Given the description of an element on the screen output the (x, y) to click on. 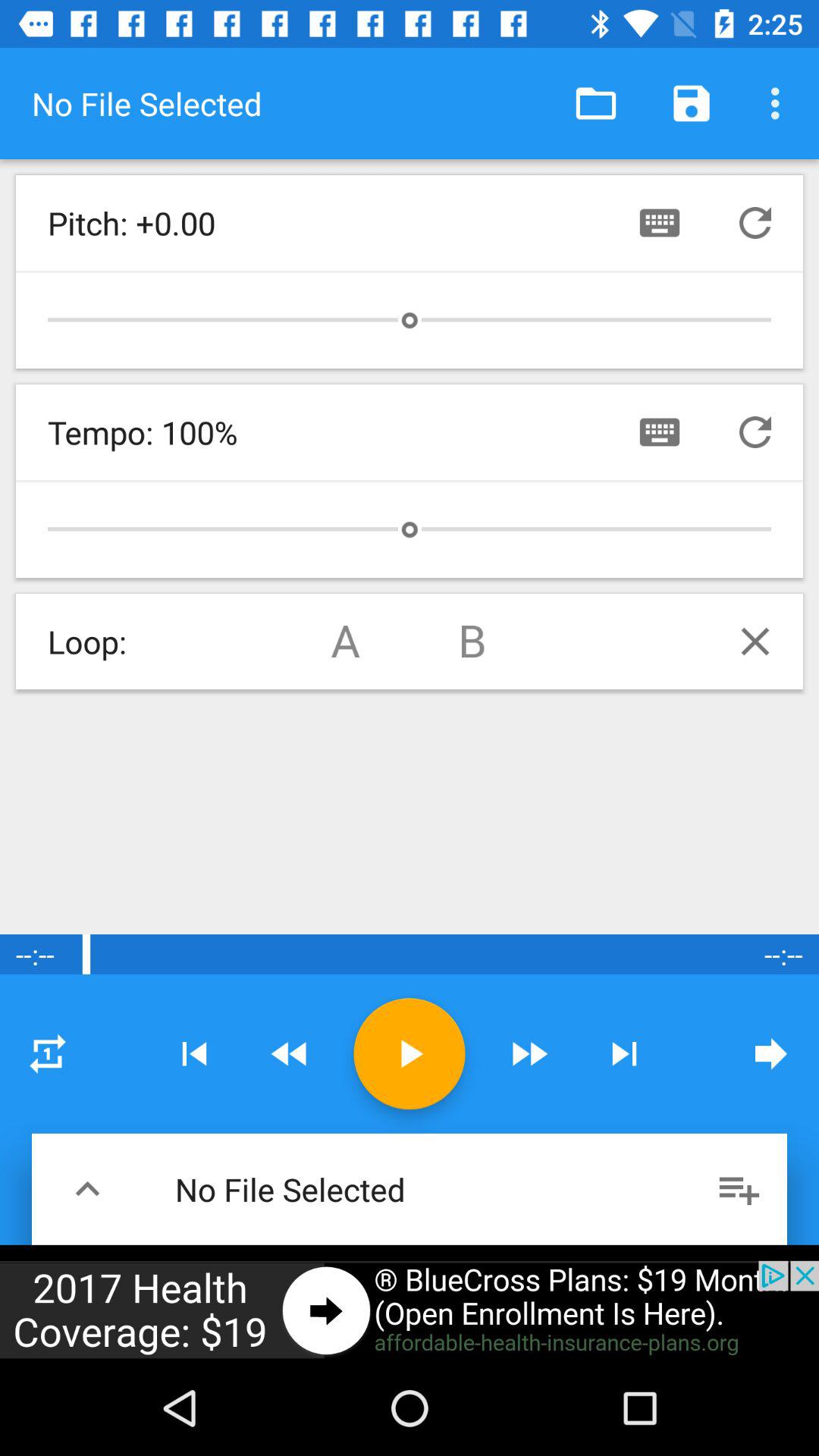
previous (755, 222)
